Given the description of an element on the screen output the (x, y) to click on. 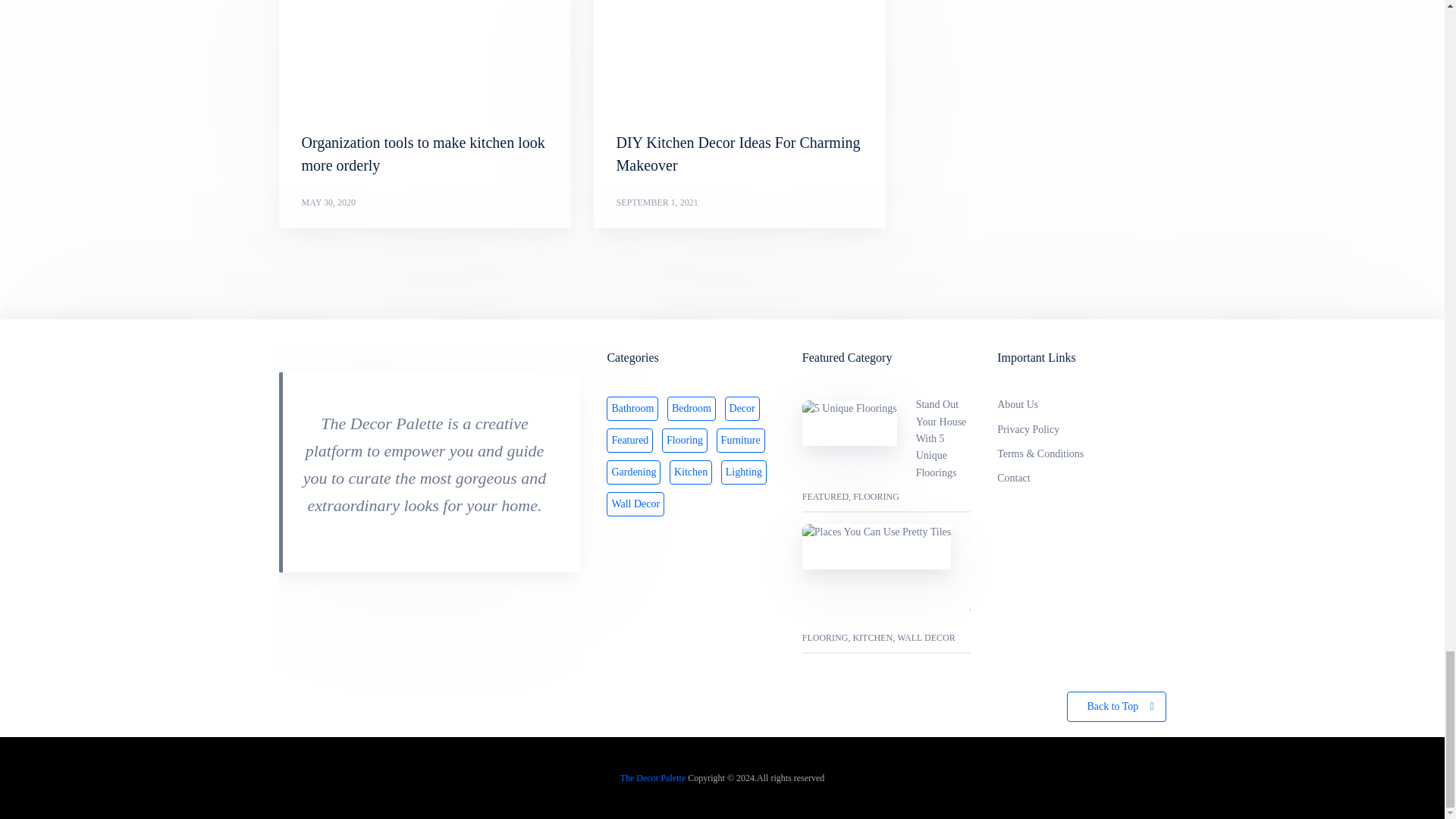
Organization tools to make kitchen look more orderly (424, 54)
Organization tools to make kitchen look more orderly (422, 153)
DIY Kitchen Decor Ideas For Charming Makeover (738, 54)
DIY Kitchen Decor Ideas For Charming Makeover (737, 153)
DIY Kitchen Decor Ideas For Charming Makeover (737, 153)
Organization tools to make kitchen look more orderly (422, 153)
